Given the description of an element on the screen output the (x, y) to click on. 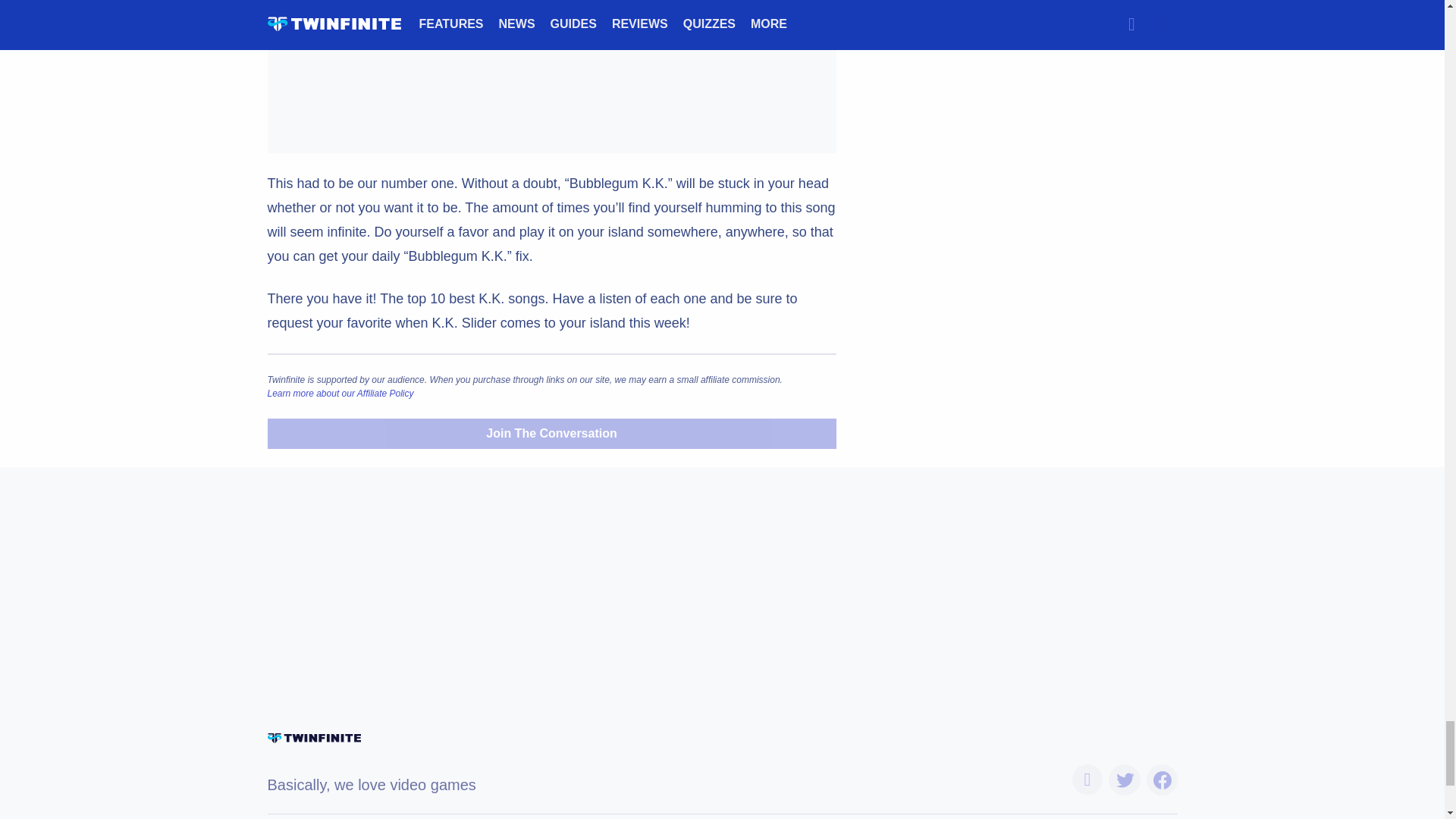
Join The Conversation (550, 433)
